Given the description of an element on the screen output the (x, y) to click on. 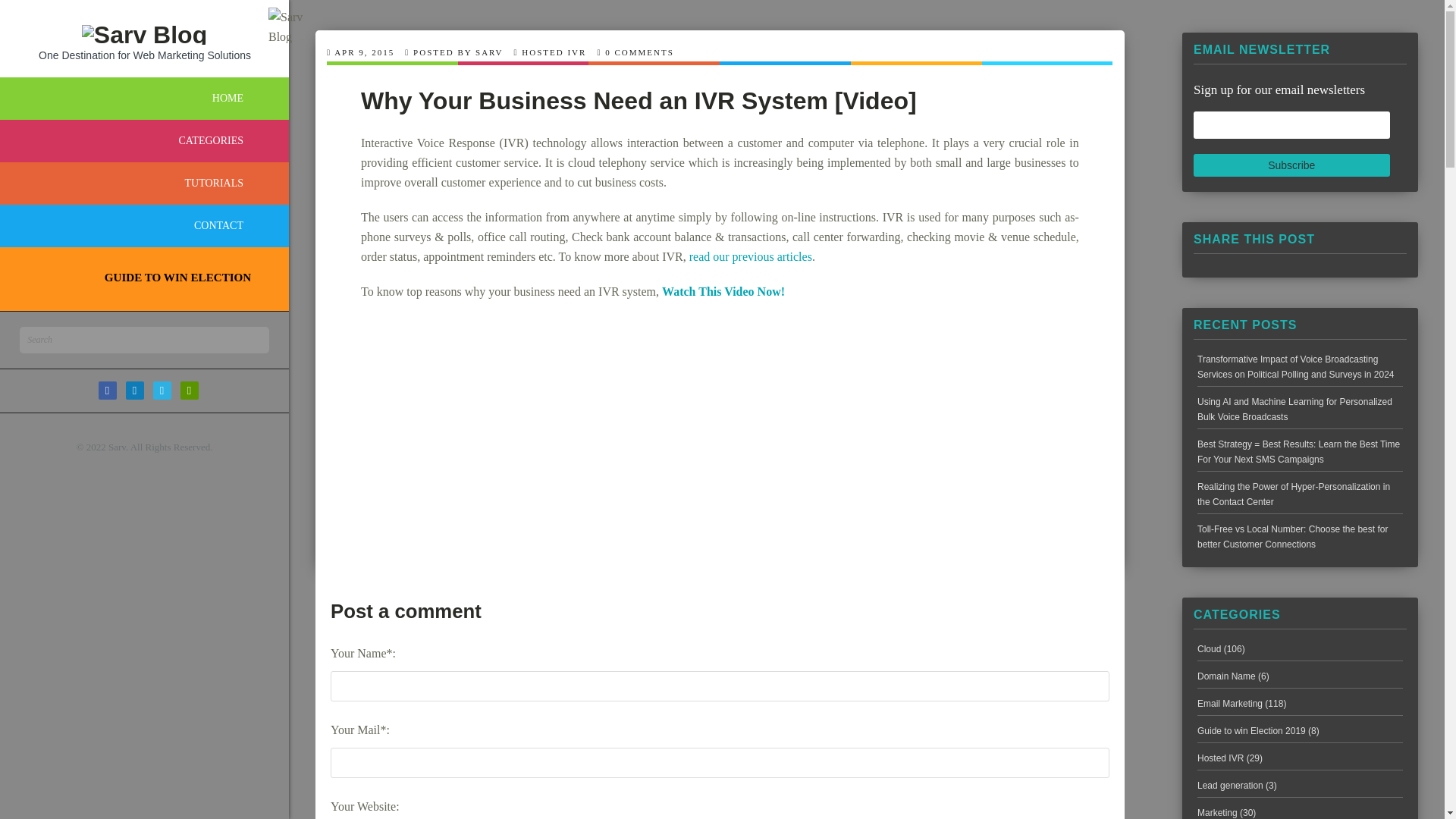
Subscribe (1291, 164)
HOME (144, 97)
0 COMMENTS (639, 51)
CONTACT (144, 225)
HOSTED IVR (553, 51)
CATEGORIES (144, 140)
Sarv Blog (285, 25)
Sarv Blog (144, 24)
TUTORIALS (144, 183)
read our previous articles (750, 256)
Watch This Video Now! (723, 291)
GUIDE TO WIN ELECTION (139, 276)
